Given the description of an element on the screen output the (x, y) to click on. 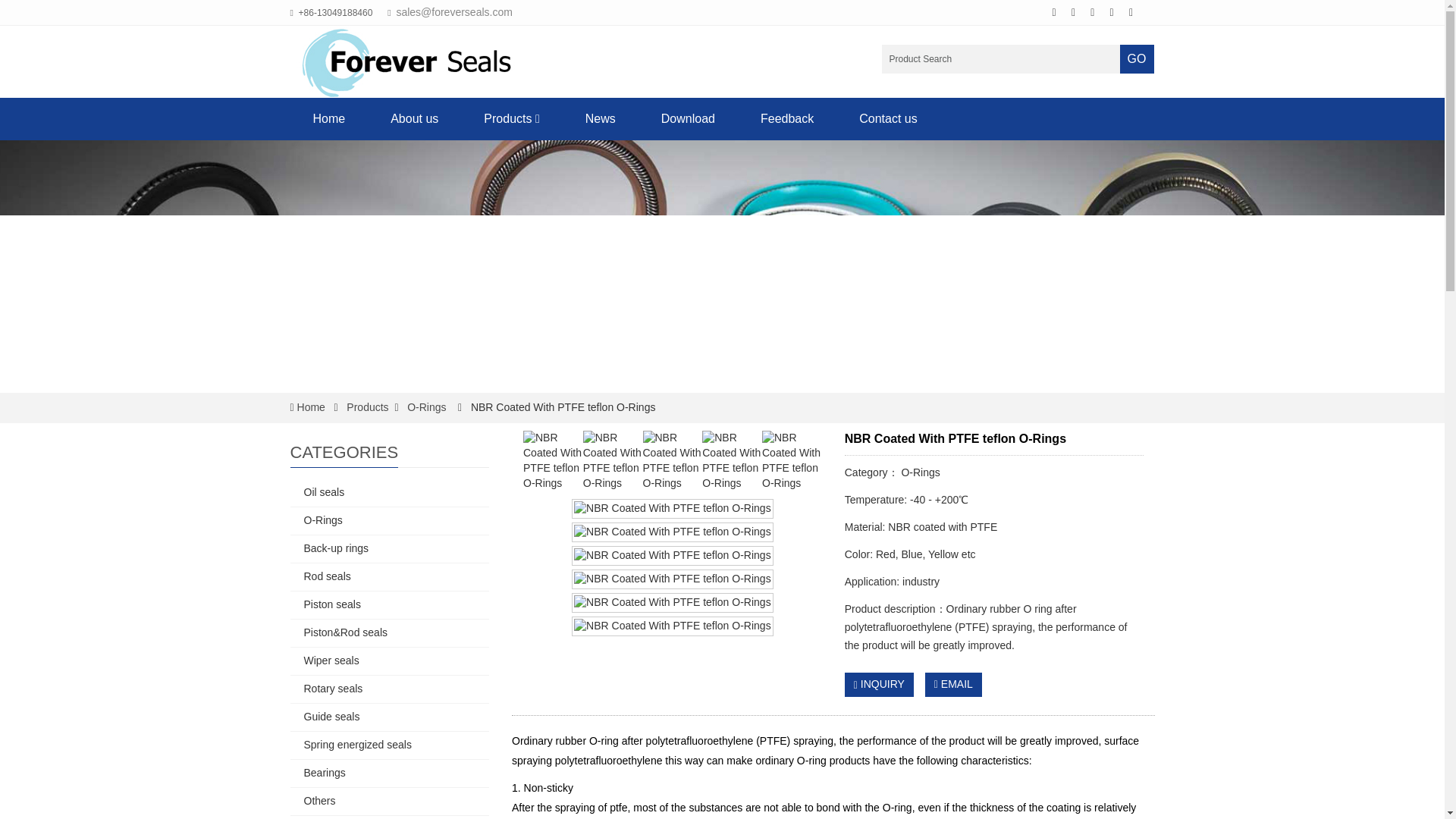
Products (367, 407)
Feedback (786, 118)
O-Rings (426, 407)
Home (310, 407)
About us (414, 118)
GO (1136, 59)
Products (511, 118)
Home (328, 118)
Products (367, 407)
O-Rings (426, 407)
